Given the description of an element on the screen output the (x, y) to click on. 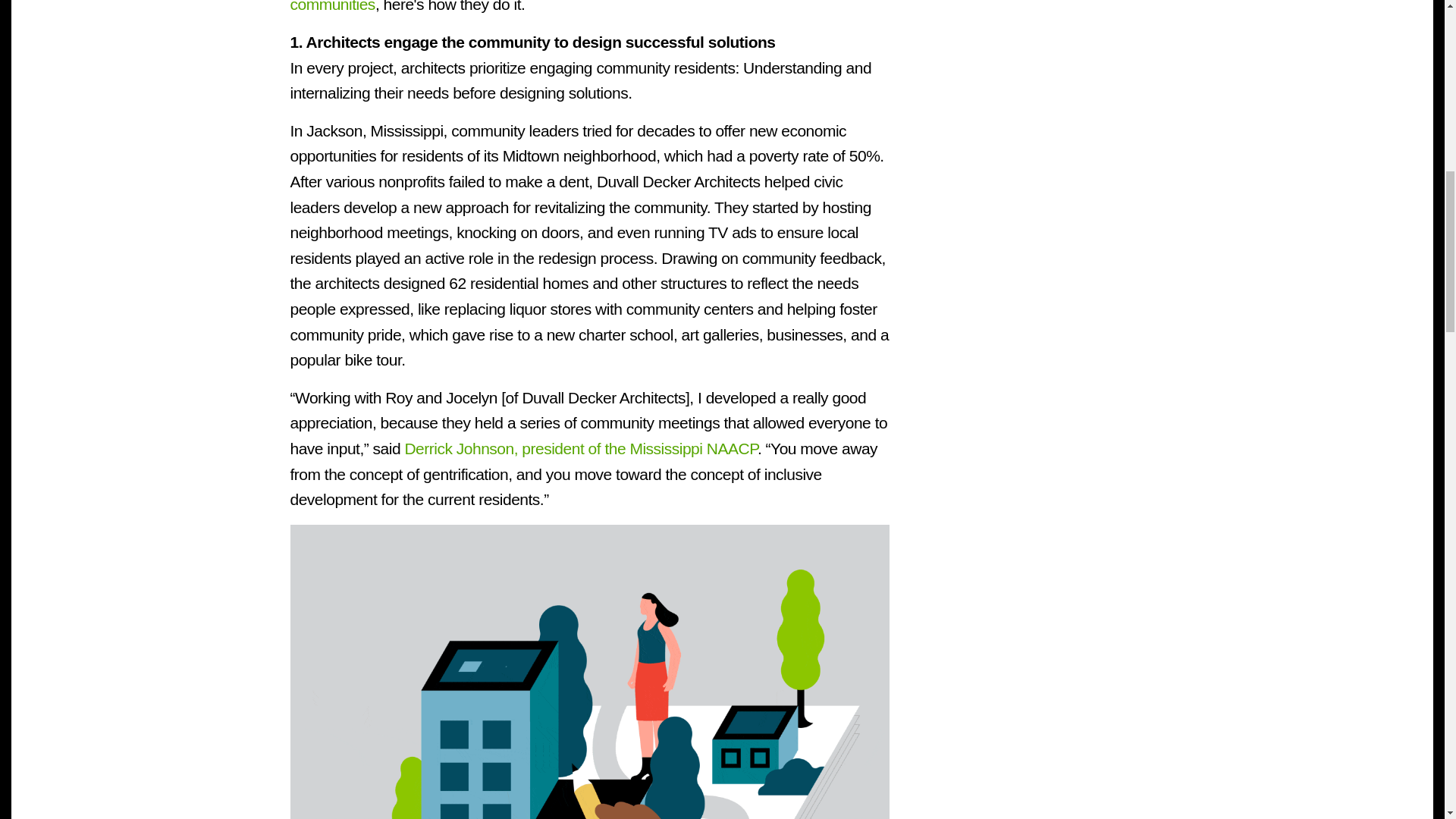
renovating buildings to rejuvenate communities (578, 6)
Derrick Johnson, president of the Mississippi NAACP (580, 448)
